Given the description of an element on the screen output the (x, y) to click on. 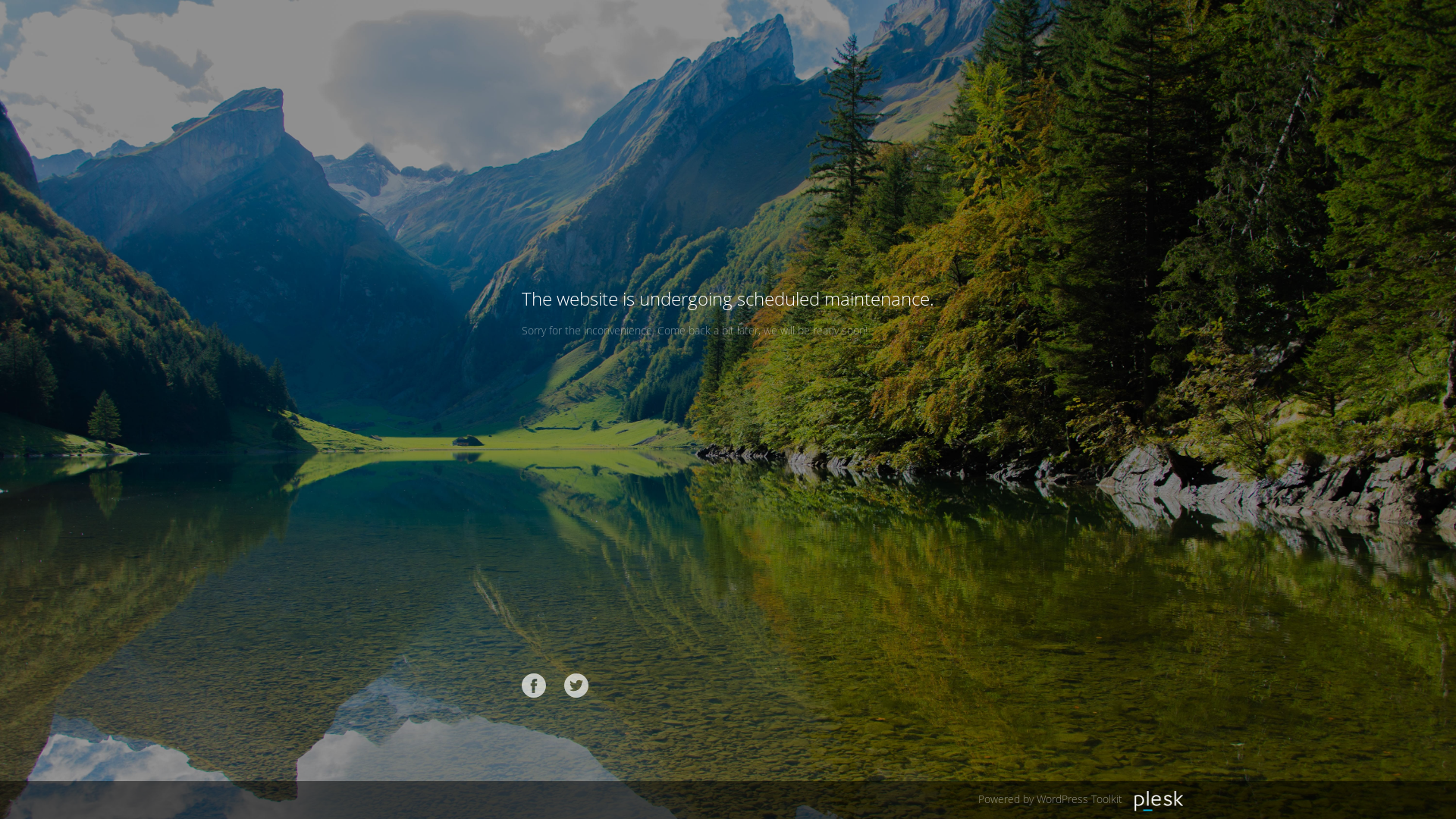
Facebook Element type: hover (533, 685)
Twitter Element type: hover (576, 685)
